Given the description of an element on the screen output the (x, y) to click on. 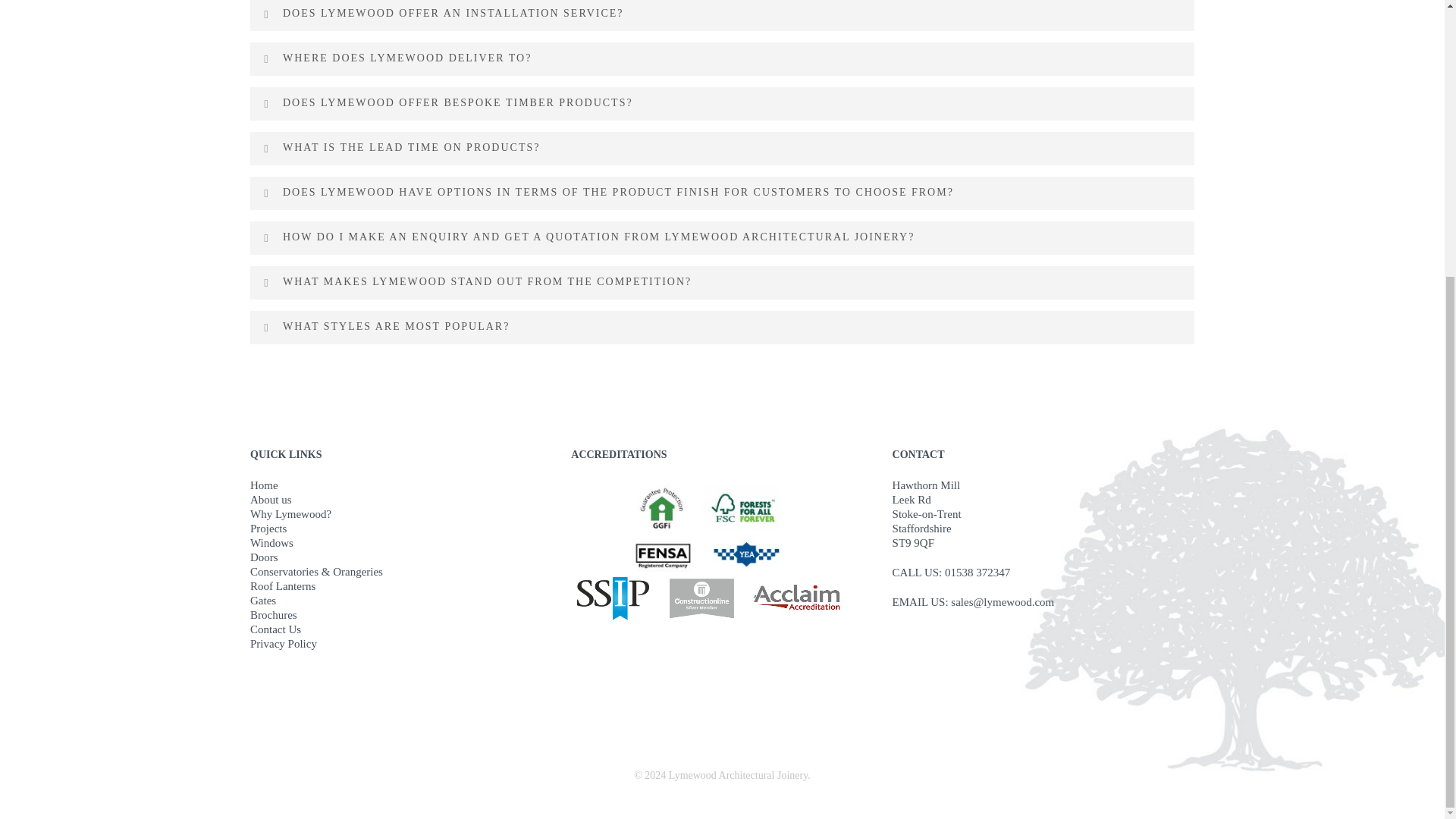
WHAT MAKES LYMEWOOD STAND OUT FROM THE COMPETITION? (721, 282)
Roof Lanterns (400, 585)
Gates (400, 600)
Windows (400, 543)
Projects (400, 527)
WHERE DOES LYMEWOOD DELIVER TO? (721, 58)
About us (400, 499)
DOES LYMEWOOD OFFER BESPOKE TIMBER PRODUCTS? (721, 103)
DOES LYMEWOOD OFFER AN INSTALLATION SERVICE? (721, 15)
Contact Us (400, 629)
Why Lymewood? (400, 513)
WHAT IS THE LEAD TIME ON PRODUCTS? (721, 147)
Privacy Policy (400, 643)
